Given the description of an element on the screen output the (x, y) to click on. 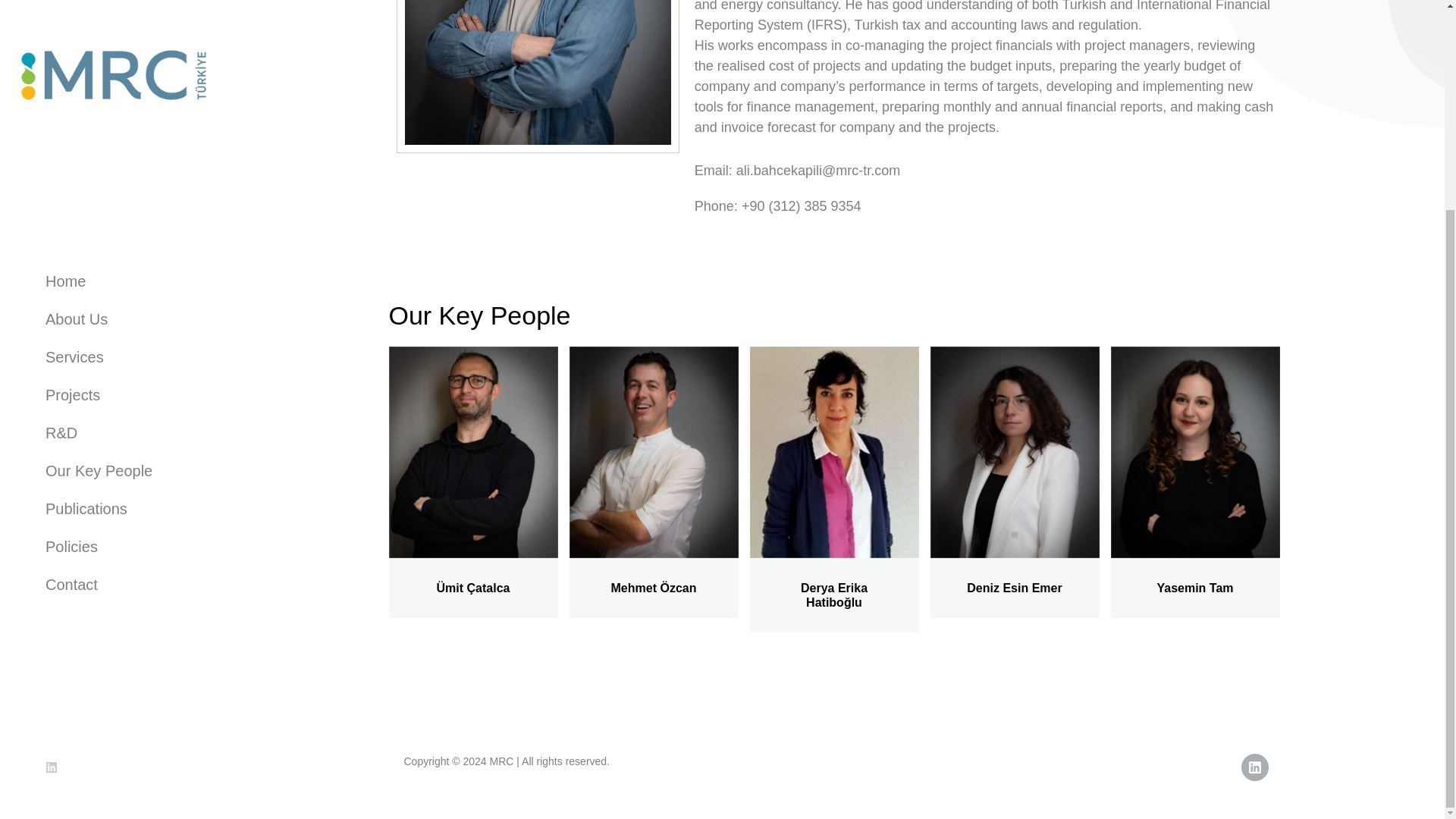
Services (113, 84)
Yasemin Tam (1194, 587)
Home (113, 8)
Yasemin Tam (1194, 587)
Deniz Esin Emer (1013, 587)
Policies (113, 273)
Deniz Esin Emer (1013, 587)
Projects (113, 122)
Our Key People (113, 198)
Contact (113, 312)
